Given the description of an element on the screen output the (x, y) to click on. 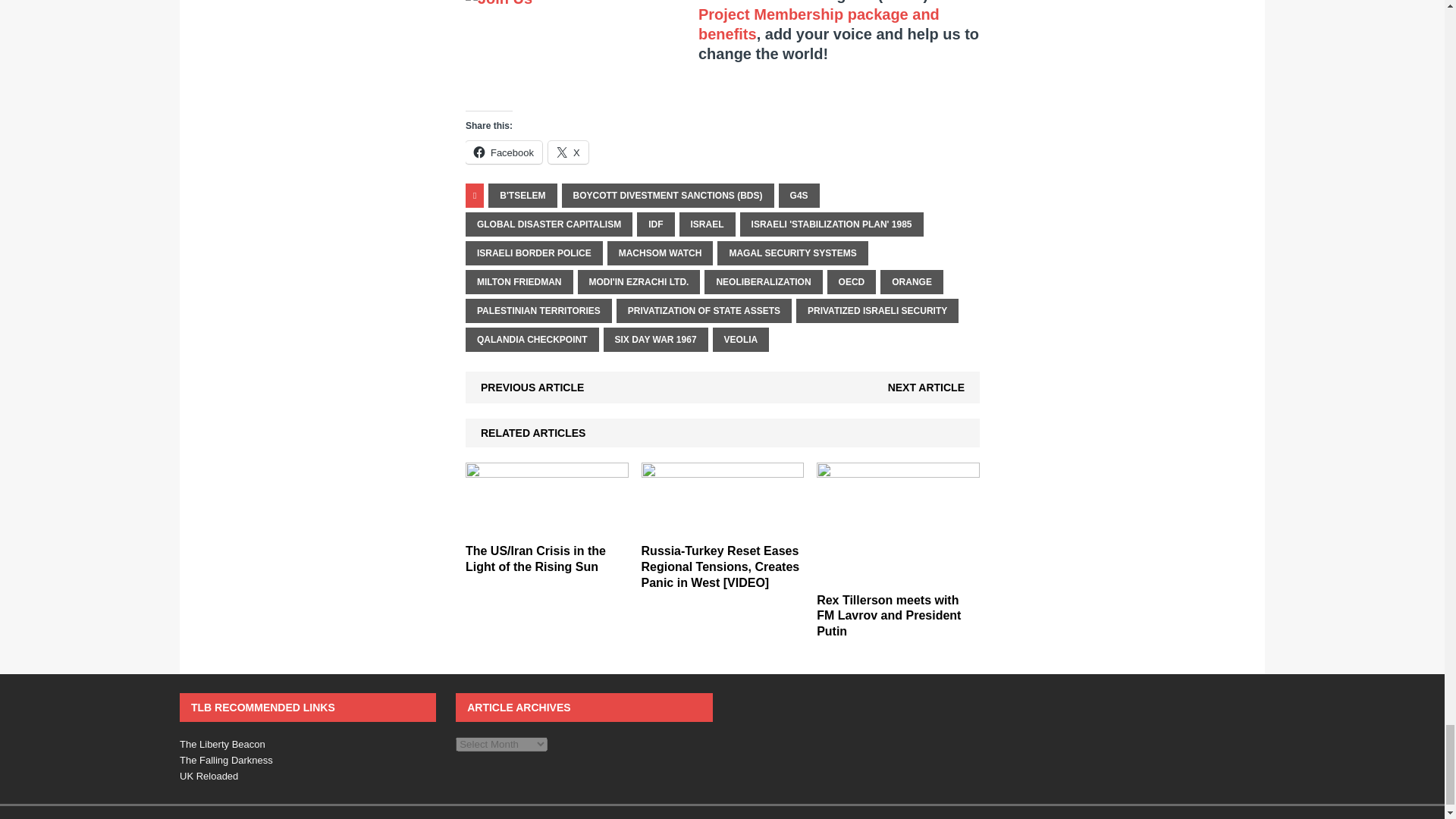
Click to share on Facebook (503, 151)
Click to share on X (568, 151)
Rex Tillerson meets with FM Lavrov and President Putin (897, 576)
Rex Tillerson meets with FM Lavrov and President Putin (888, 615)
